Given the description of an element on the screen output the (x, y) to click on. 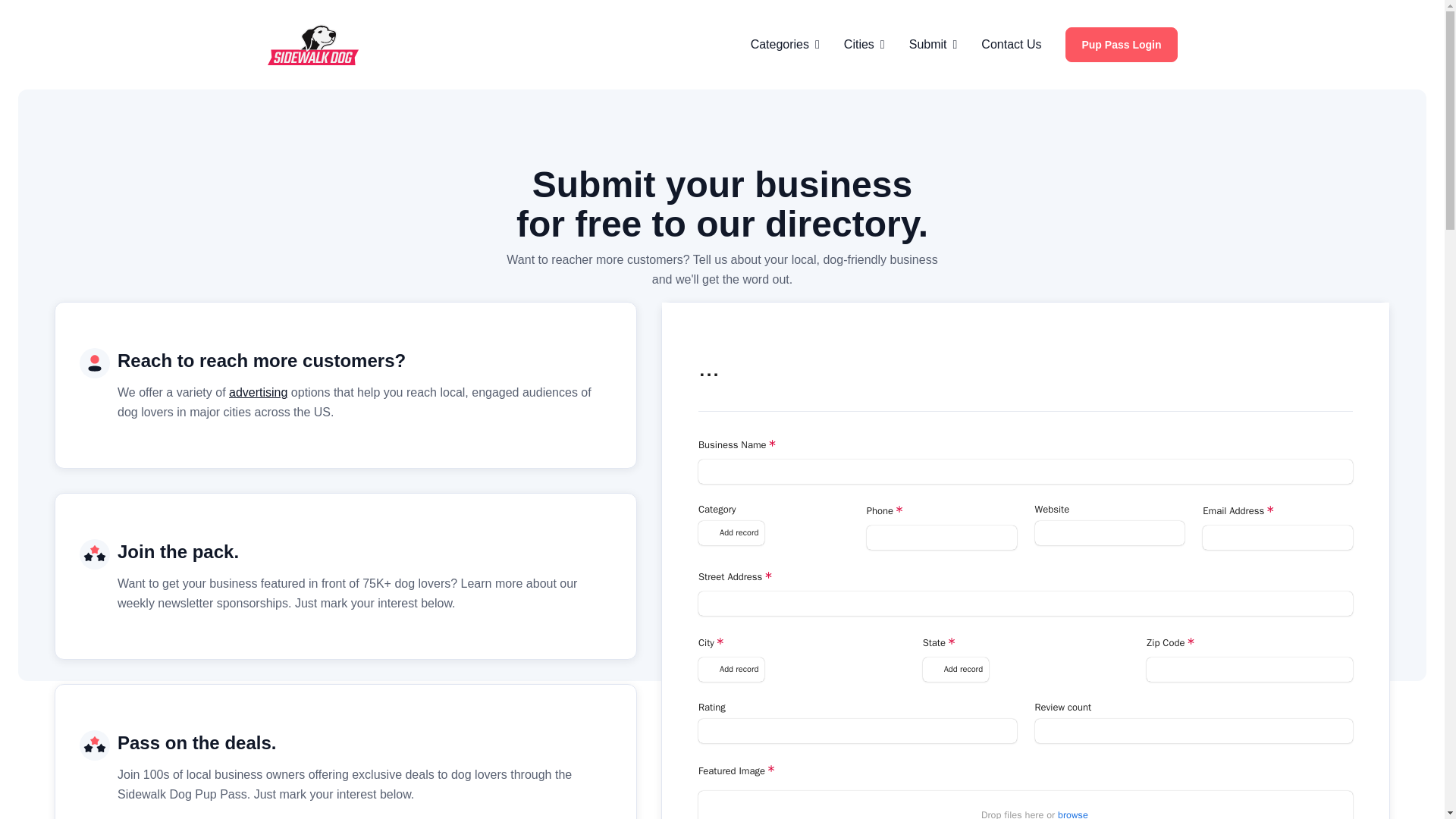
Contact Us (1011, 44)
Pup Pass Login (1120, 44)
advertising (257, 391)
